Given the description of an element on the screen output the (x, y) to click on. 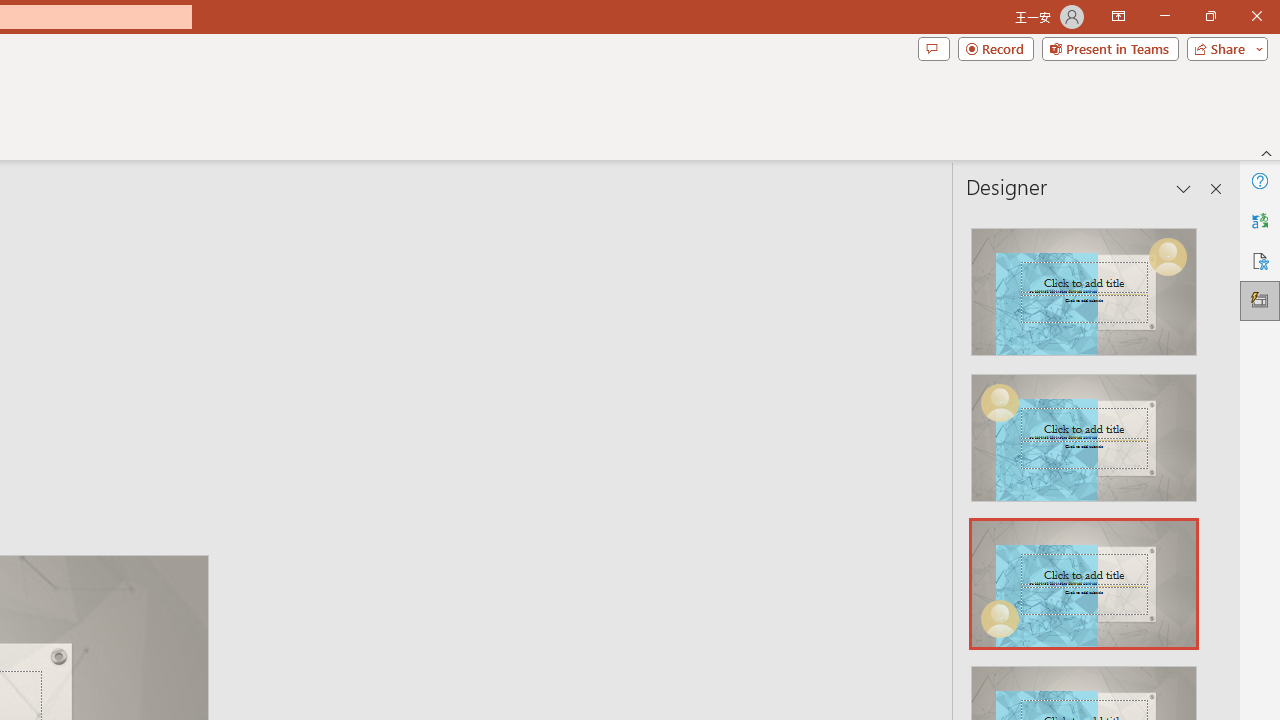
Close (1256, 16)
Minimize (1164, 16)
Design Idea (1083, 577)
Recommended Design: Design Idea (1083, 286)
